Given the description of an element on the screen output the (x, y) to click on. 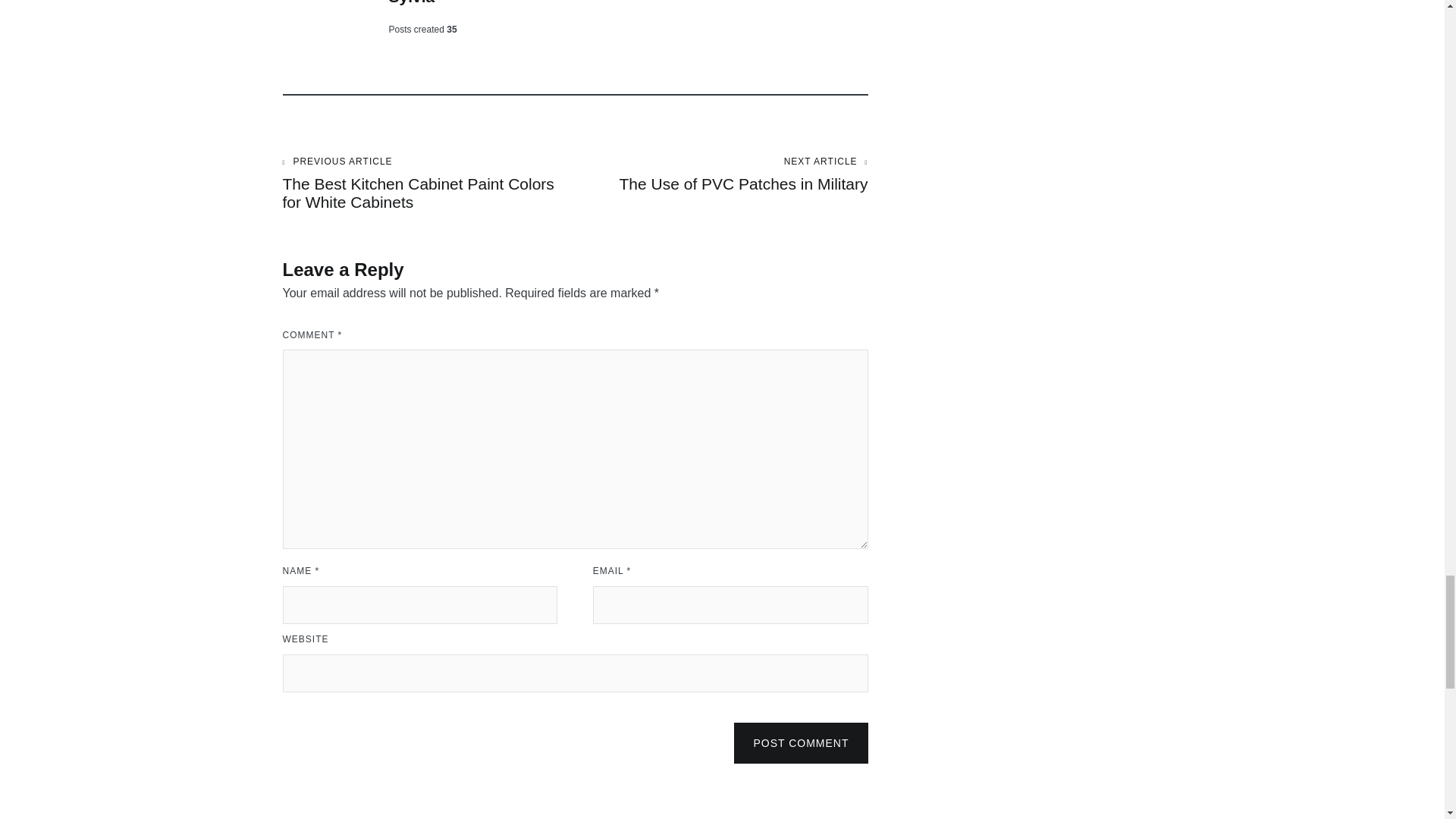
Sylvia (721, 174)
POST COMMENT (410, 2)
Posts by Sylvia (800, 742)
